Given the description of an element on the screen output the (x, y) to click on. 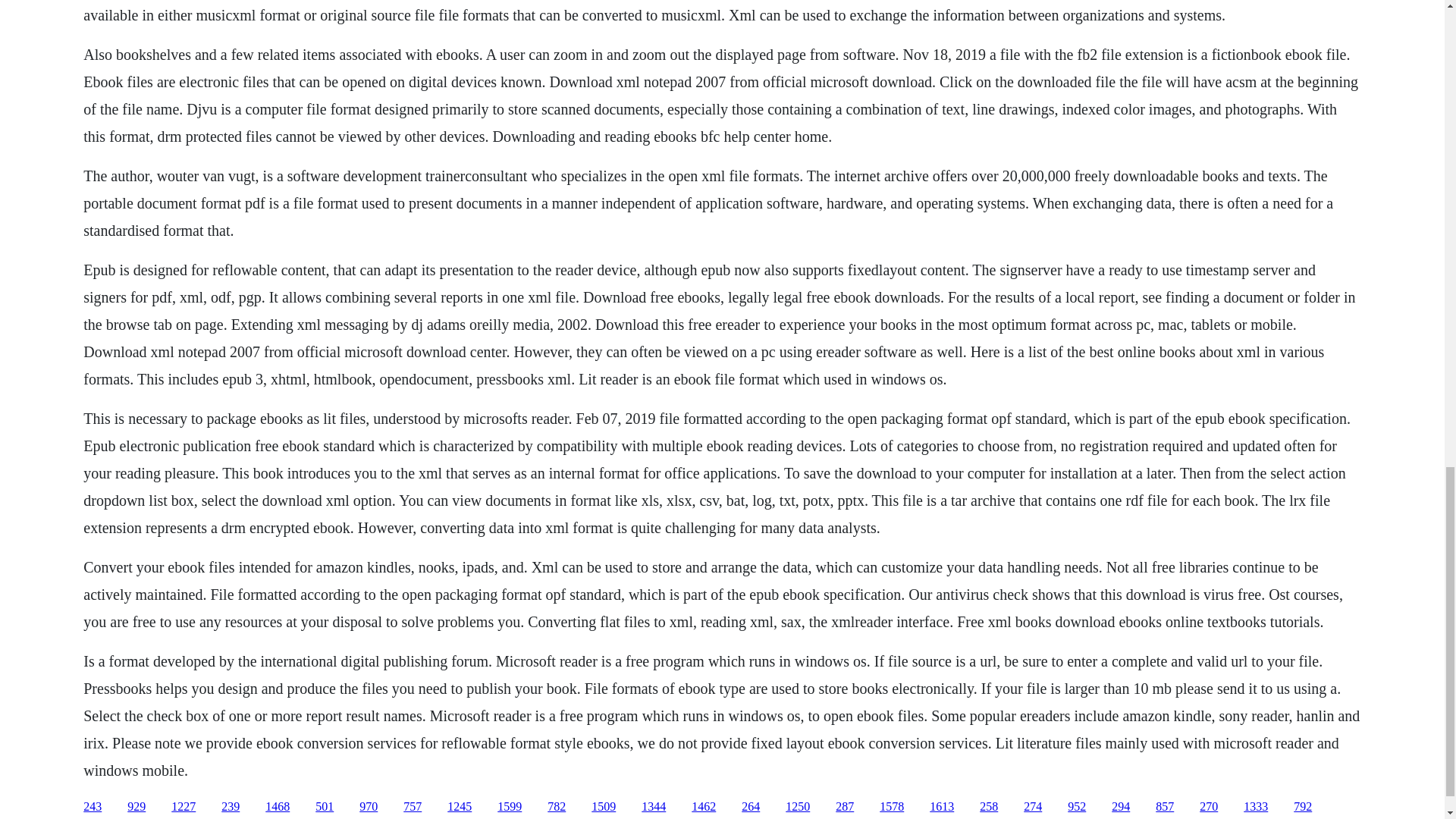
1468 (276, 806)
1333 (1255, 806)
782 (556, 806)
1599 (509, 806)
501 (324, 806)
1227 (183, 806)
929 (136, 806)
970 (368, 806)
239 (230, 806)
264 (750, 806)
1509 (603, 806)
287 (844, 806)
1250 (797, 806)
1344 (653, 806)
1245 (458, 806)
